Given the description of an element on the screen output the (x, y) to click on. 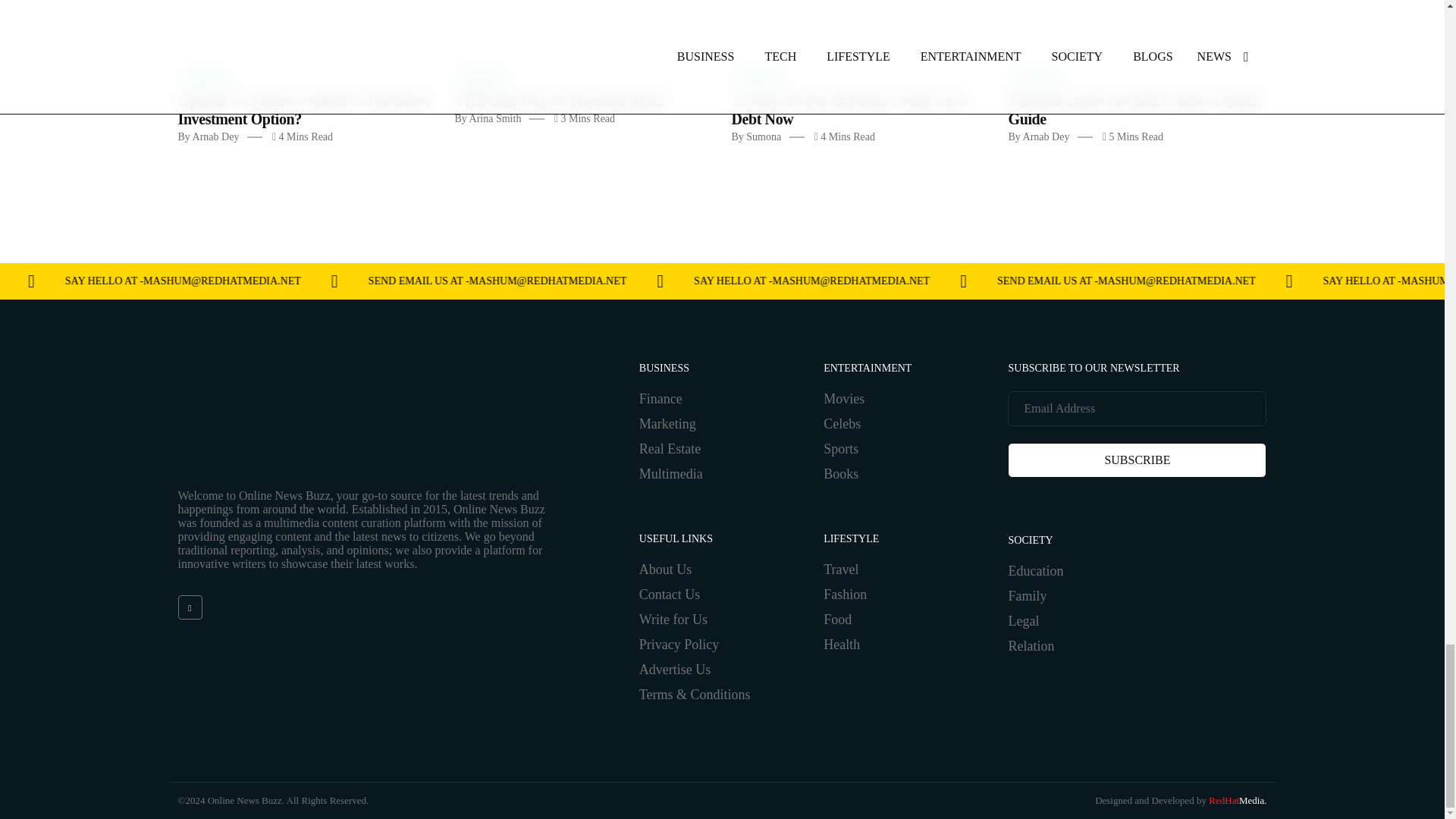
Finance (759, 76)
Subscribe (1136, 460)
Finance (483, 76)
Finance (1037, 76)
Finance (205, 76)
